Given the description of an element on the screen output the (x, y) to click on. 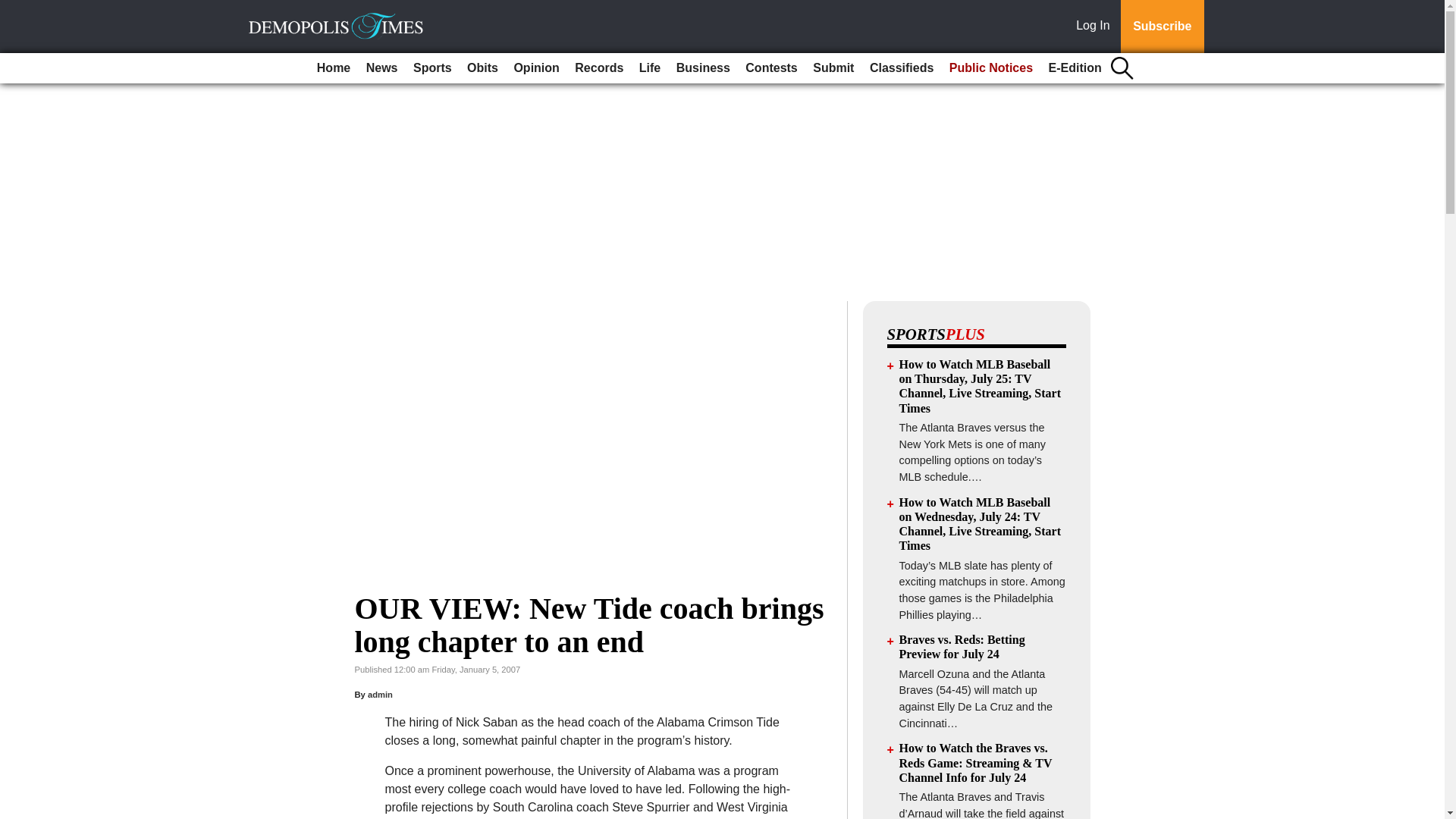
News (381, 68)
Obits (482, 68)
Classifieds (901, 68)
E-Edition (1075, 68)
Log In (1095, 26)
Contests (771, 68)
Go (13, 9)
Records (598, 68)
Business (702, 68)
Submit (833, 68)
Sports (432, 68)
Home (333, 68)
Life (649, 68)
